Given the description of an element on the screen output the (x, y) to click on. 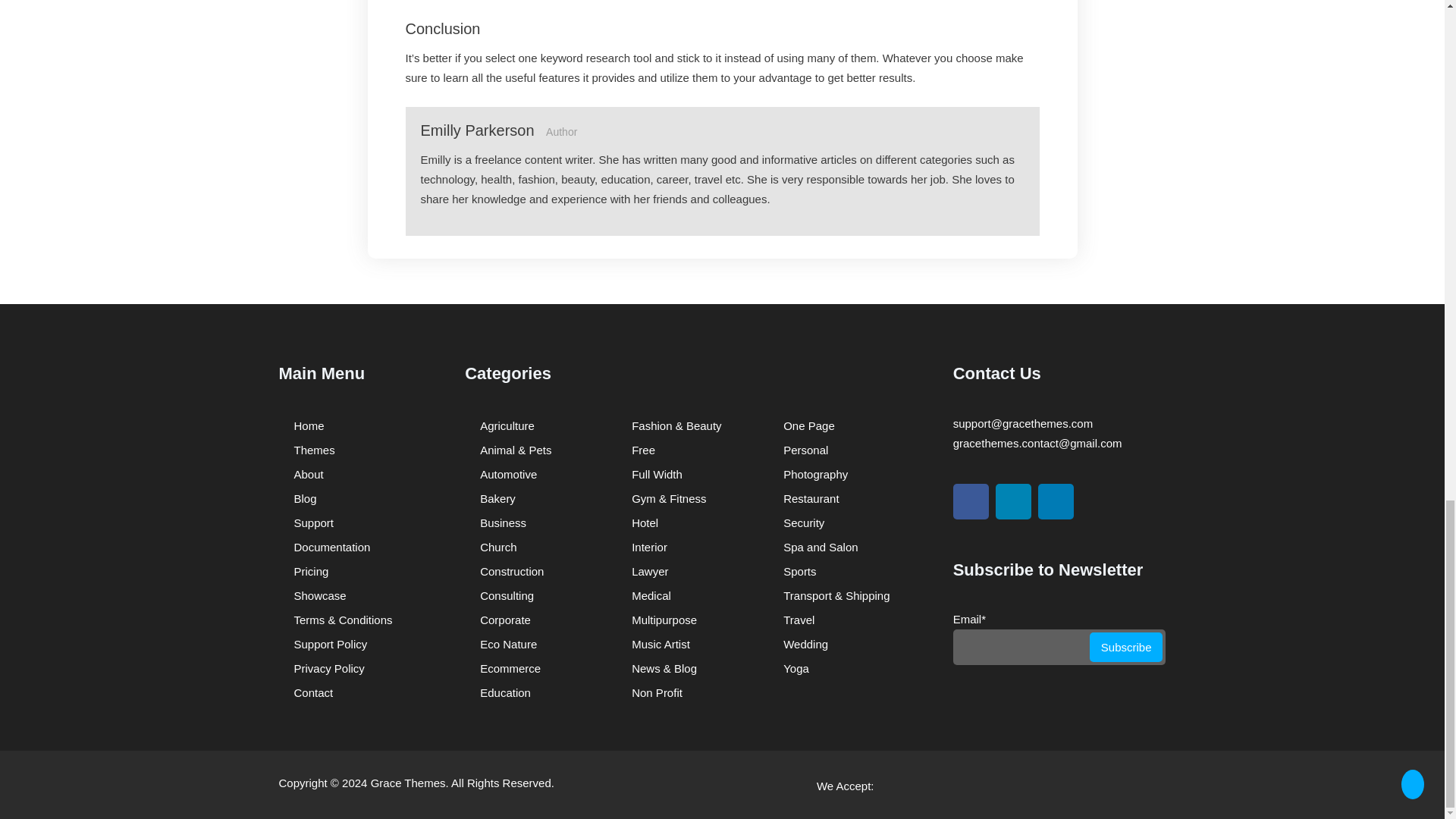
Support Policy (327, 644)
Subscribe (1126, 646)
Support (310, 523)
Bakery (493, 498)
Pricing (307, 571)
Privacy Policy (325, 668)
Themes (310, 450)
Documentation (328, 547)
Contact (309, 692)
Blog (301, 498)
